Given the description of an element on the screen output the (x, y) to click on. 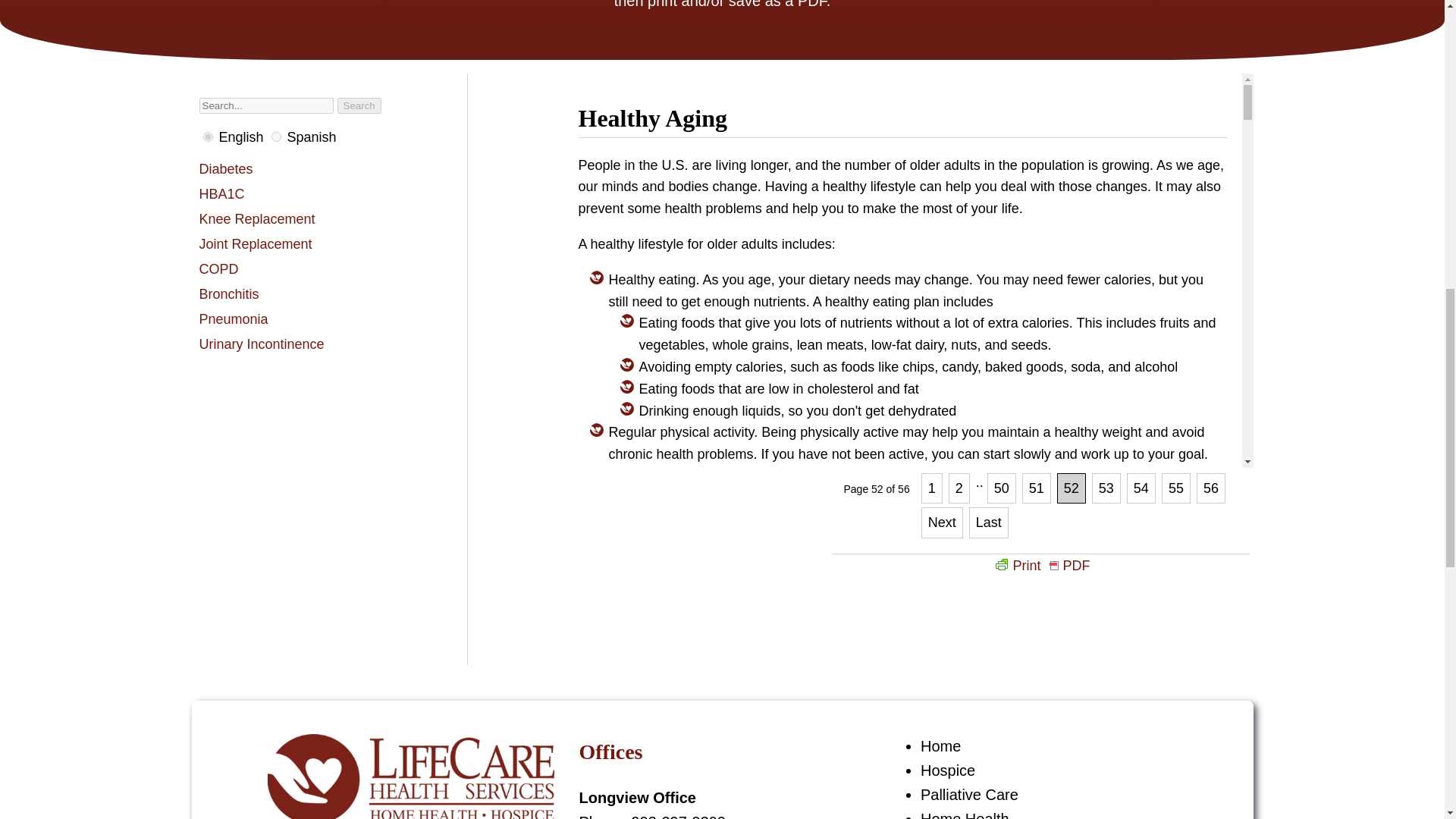
Knee Replacement (302, 219)
HBA1C (302, 194)
Joint Replacement (302, 244)
2 (275, 136)
Diabetes (302, 169)
Search (359, 105)
1 (207, 136)
Printer Friendly and PDF (1040, 565)
